Given the description of an element on the screen output the (x, y) to click on. 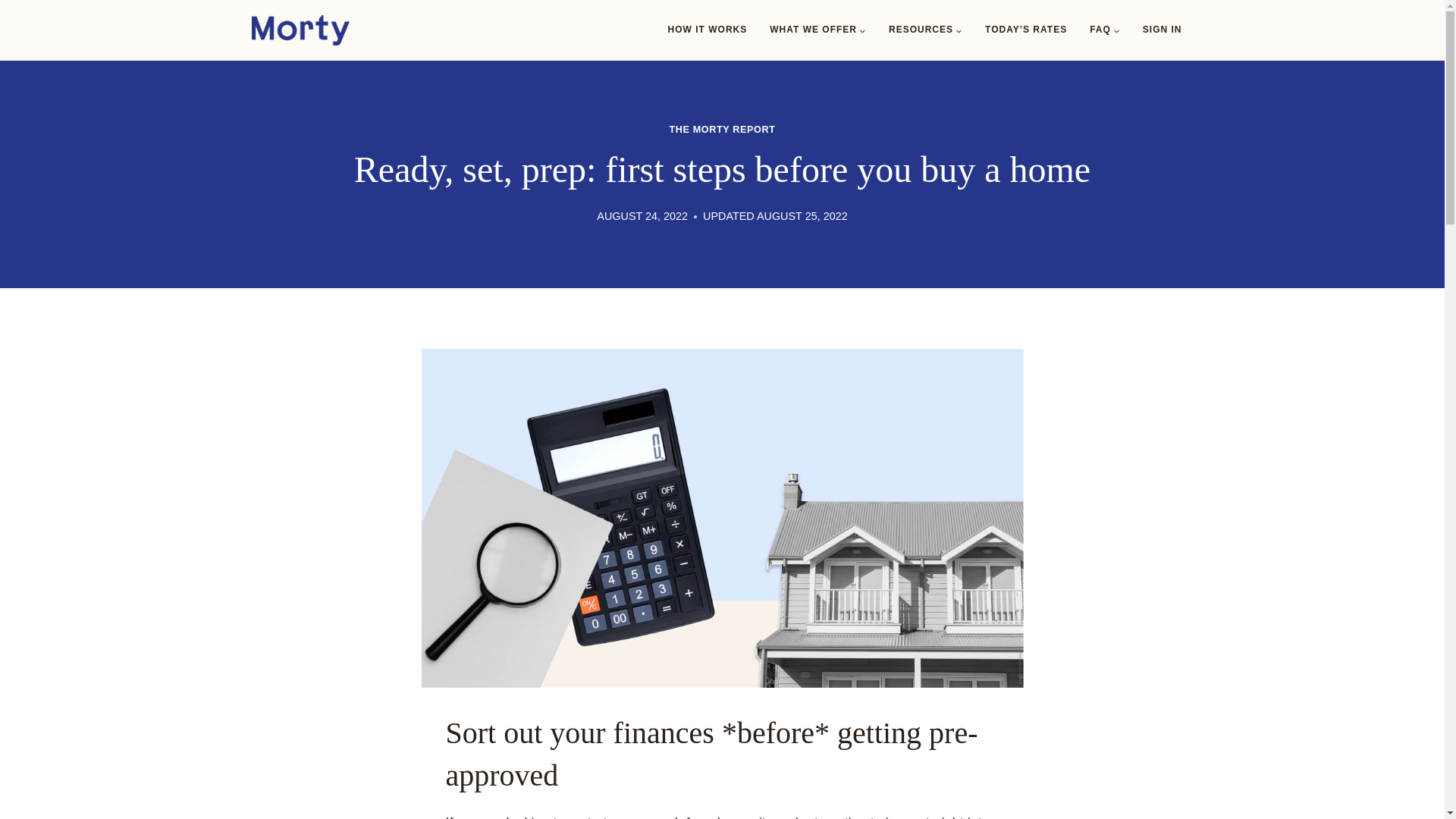
WHAT WE OFFER (817, 30)
THE MORTY REPORT (721, 129)
FAQ (1104, 30)
SIGN IN (1162, 30)
HOW IT WORKS (707, 30)
RESOURCES (925, 30)
